Given the description of an element on the screen output the (x, y) to click on. 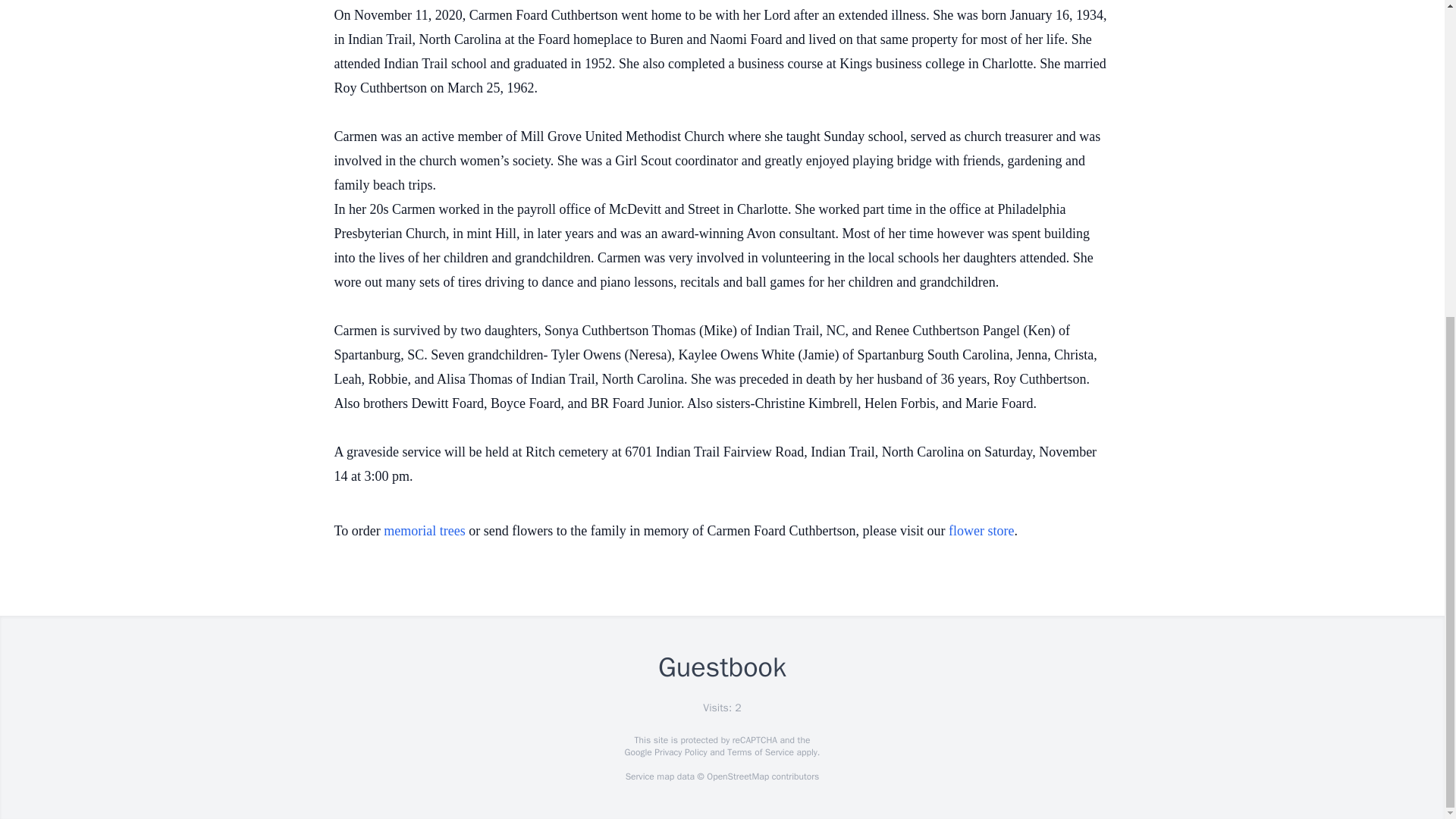
memorial trees (424, 530)
Terms of Service (759, 752)
OpenStreetMap (737, 776)
flower store (981, 530)
Privacy Policy (679, 752)
